Given the description of an element on the screen output the (x, y) to click on. 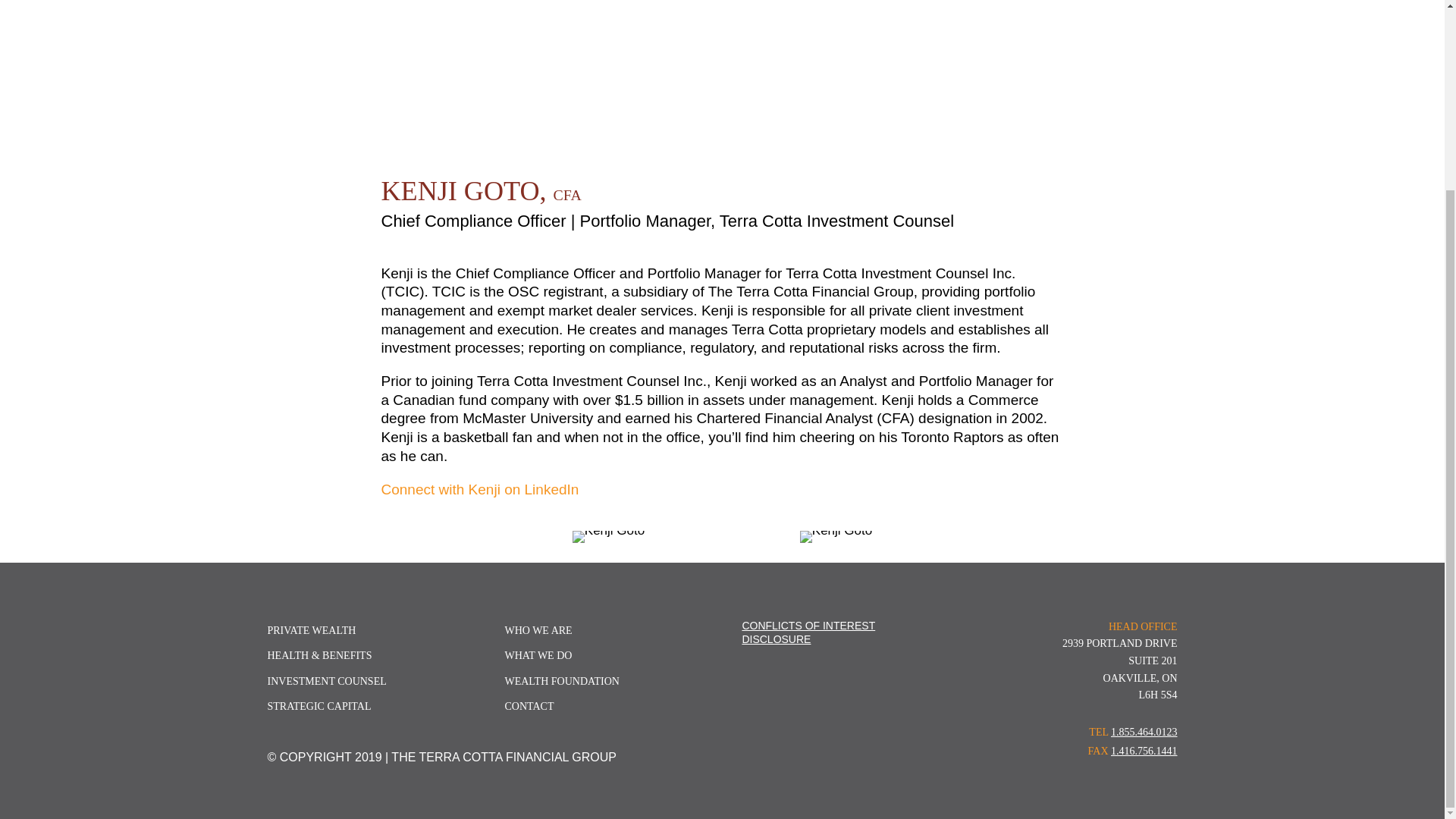
WHO WE ARE (537, 630)
STRATEGIC CAPITAL (318, 706)
WHAT WE DO (537, 655)
WEALTH FOUNDATION (561, 681)
kenji-frontal-orig-aspect (608, 536)
CONTACT (528, 706)
INVESTMENT COUNSEL (325, 681)
kenji-hobby-serious-orig-aspect (835, 536)
1.416.756.1441 (1143, 750)
